Given the description of an element on the screen output the (x, y) to click on. 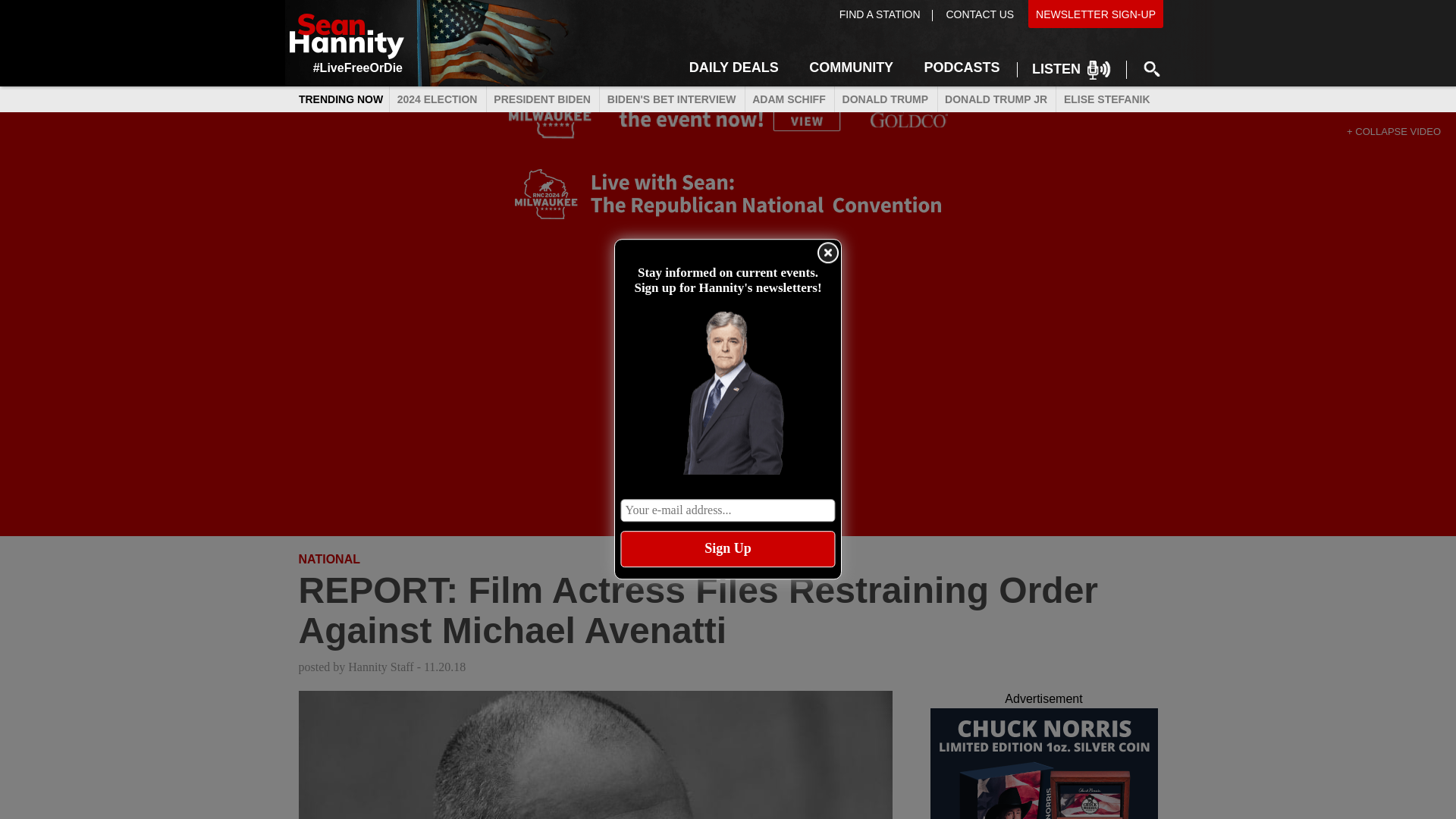
PODCASTS (962, 65)
2024 ELECTION (436, 99)
LISTEN (1070, 69)
PRESIDENT BIDEN (542, 99)
NEWSLETTER SIGN-UP (1096, 14)
NATIONAL (328, 559)
COMMUNITY (850, 65)
DONALD TRUMP JR (995, 99)
BIDEN'S BET INTERVIEW (670, 99)
ELISE STEFANIK (1106, 99)
DONALD TRUMP (885, 99)
FIND A STATION (879, 14)
DAILY DEALS (733, 65)
ADAM SCHIFF (788, 99)
CONTACT US (978, 14)
